Given the description of an element on the screen output the (x, y) to click on. 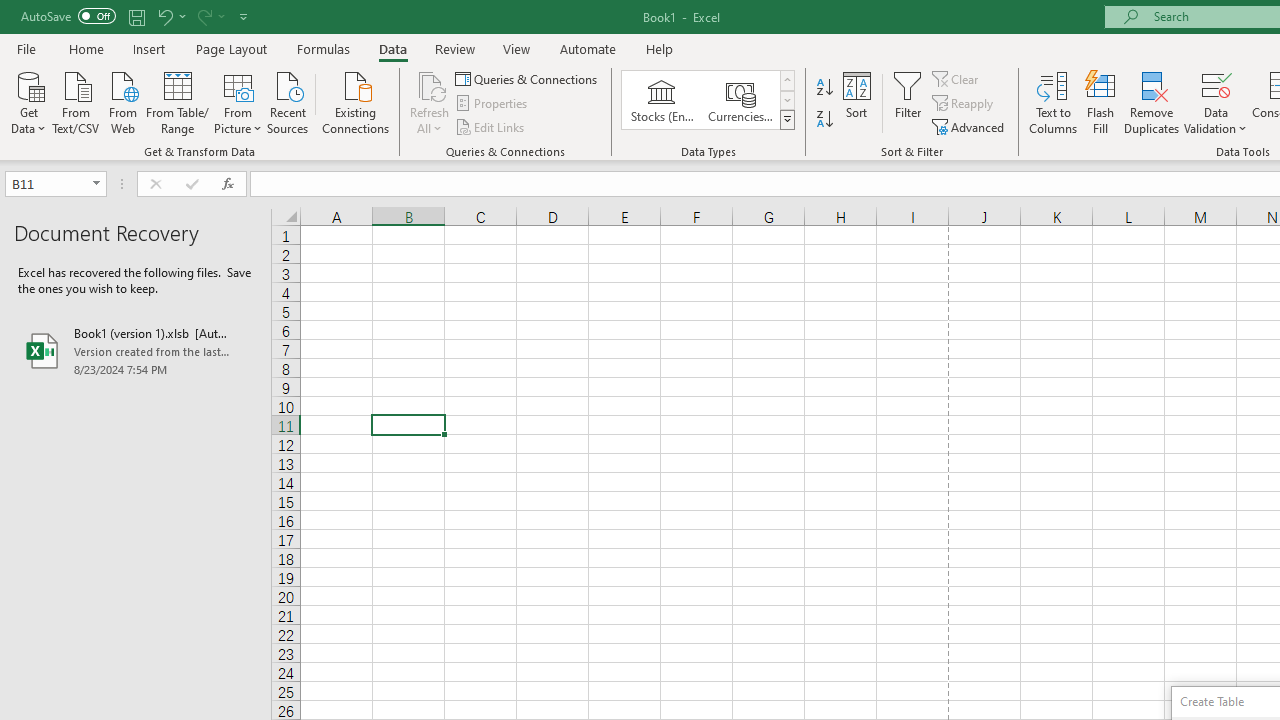
Text to Columns... (1053, 102)
Customize Quick Access Toolbar (244, 15)
Sort A to Z (824, 87)
Help (660, 48)
Clear (957, 78)
Save (136, 15)
Row Down (786, 100)
Reapply (964, 103)
Sort Z to A (824, 119)
Remove Duplicates (1151, 102)
From Table/Range (177, 101)
From Text/CSV (75, 101)
Properties (492, 103)
